Given the description of an element on the screen output the (x, y) to click on. 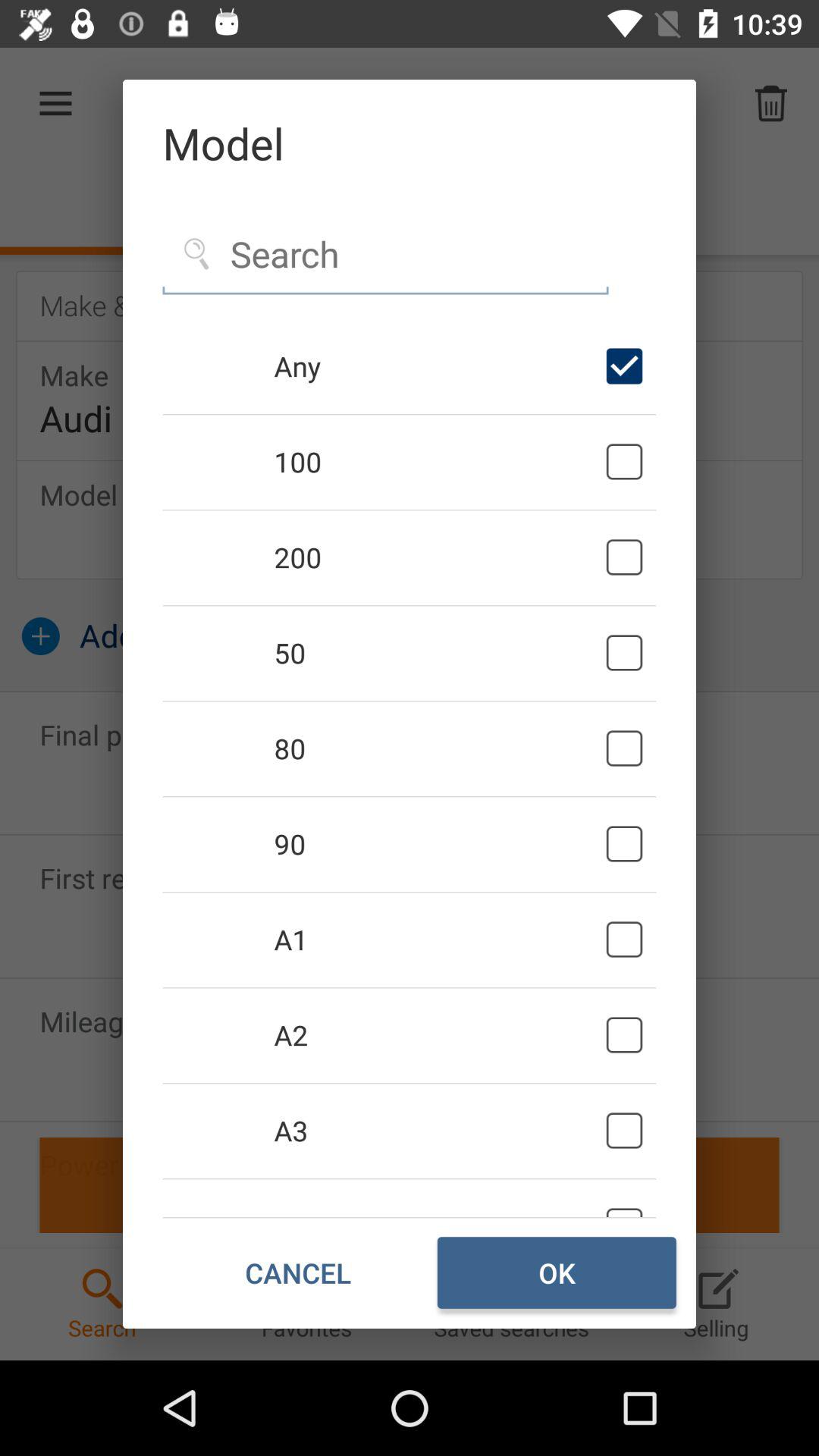
click the any icon (437, 366)
